Given the description of an element on the screen output the (x, y) to click on. 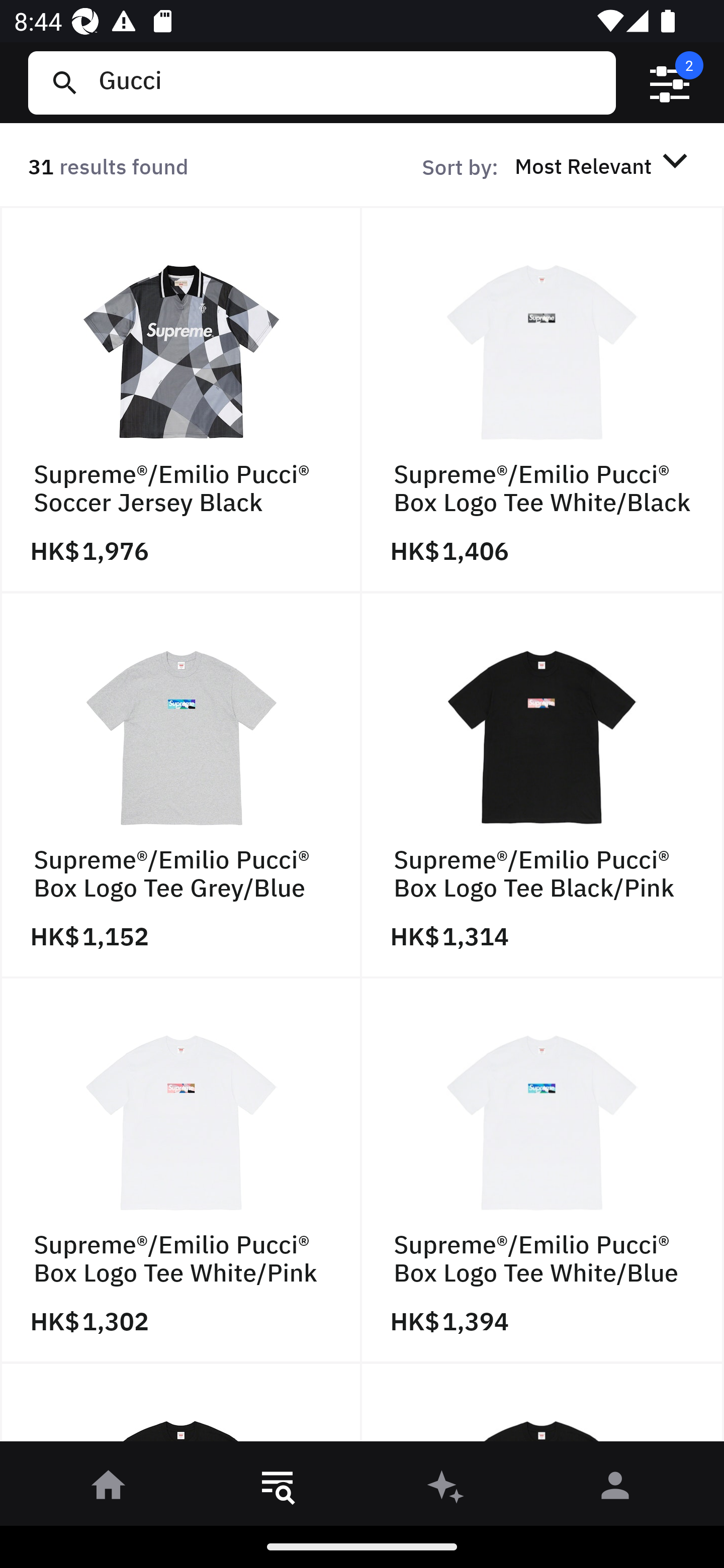
Gucci (349, 82)
 (669, 82)
Most Relevant  (604, 165)
󰋜 (108, 1488)
󱎸 (277, 1488)
󰫢 (446, 1488)
󰀄 (615, 1488)
